Given the description of an element on the screen output the (x, y) to click on. 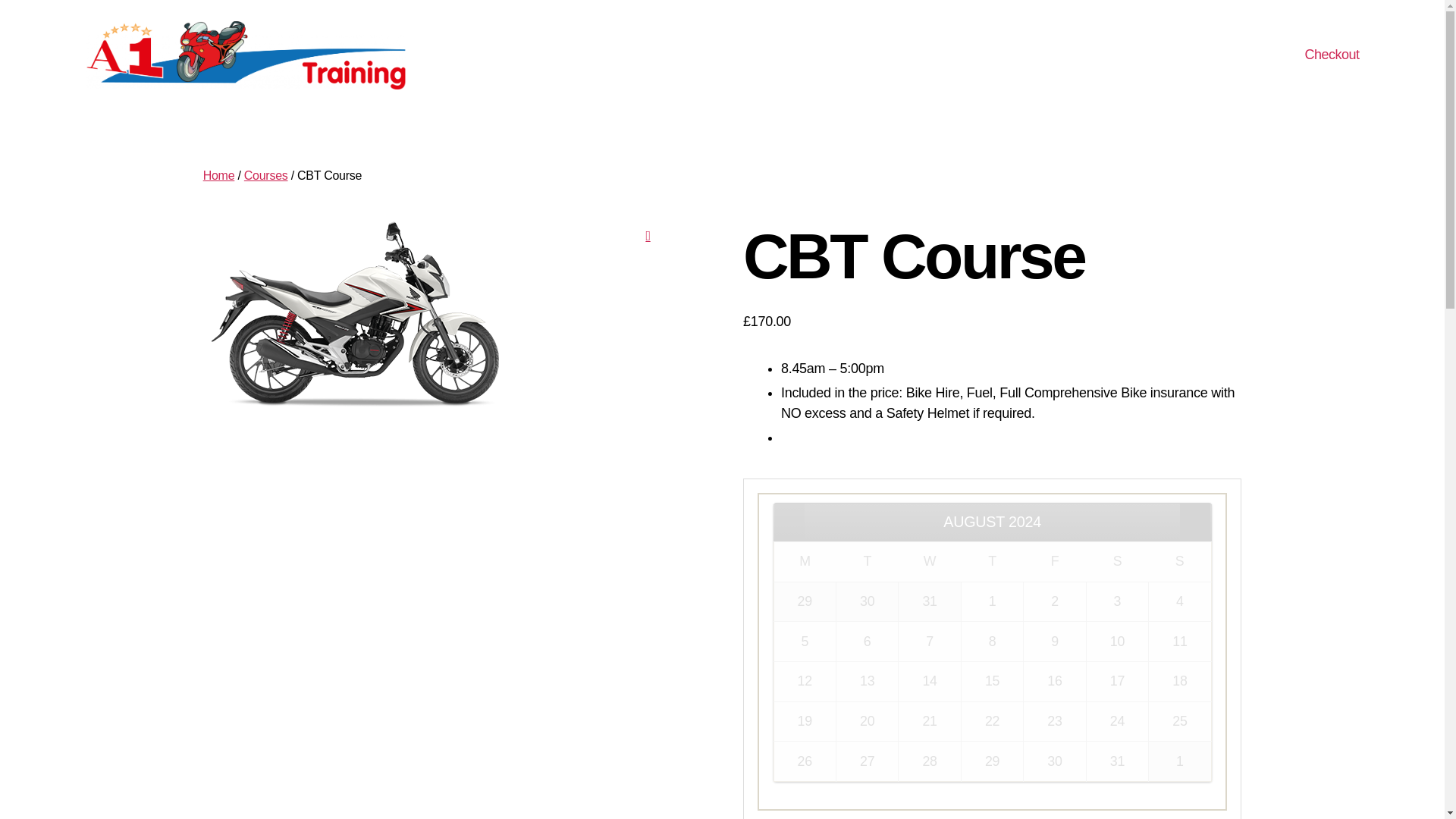
HgmYctBfg0bvdzLdB6zkgZLjVAmMtRpHPvJqwjmn (354, 315)
Courses (266, 174)
Checkout (1331, 54)
Home (218, 174)
